Given the description of an element on the screen output the (x, y) to click on. 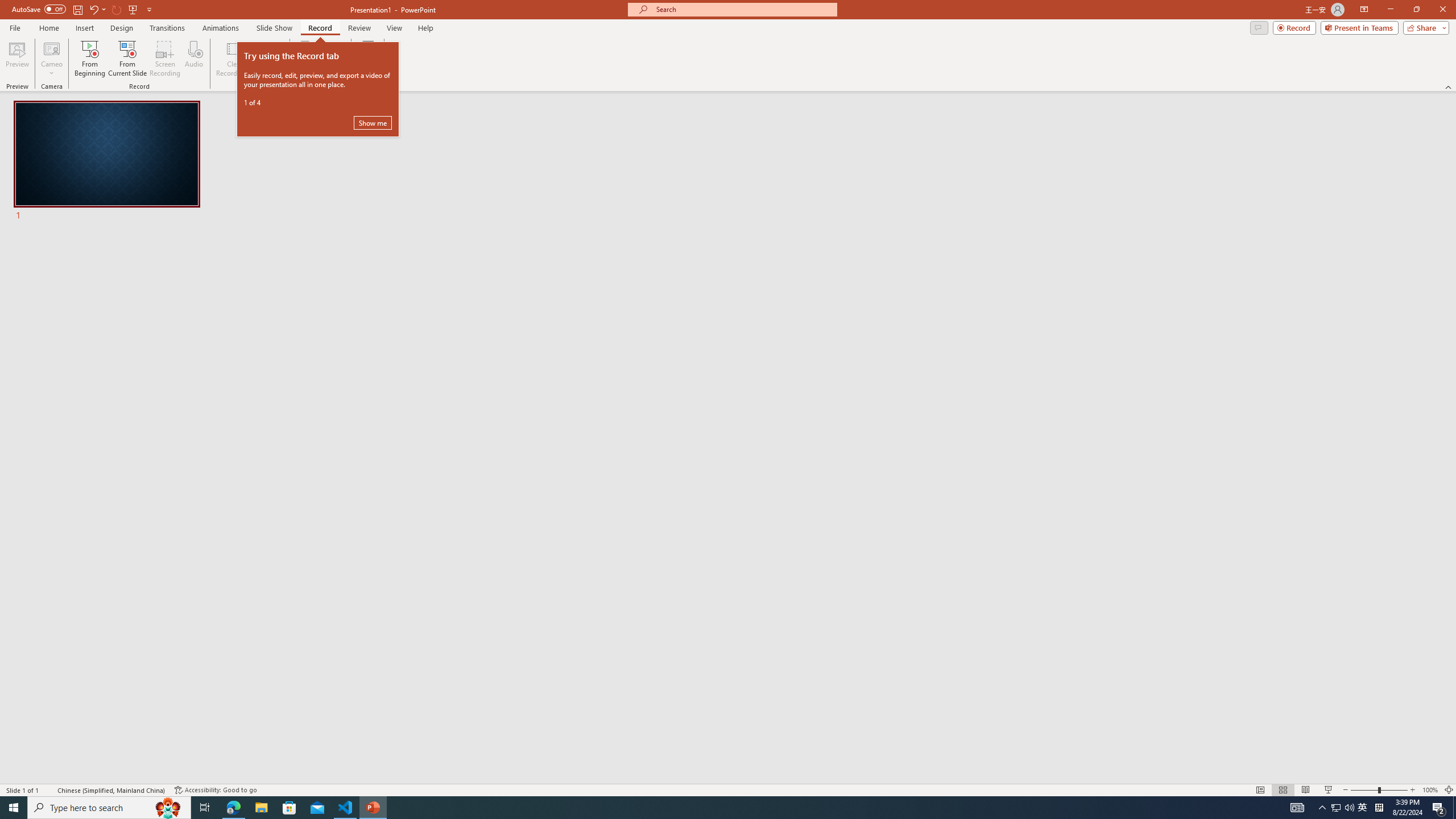
Clear Recording (234, 58)
Screen Recording (165, 58)
